Given the description of an element on the screen output the (x, y) to click on. 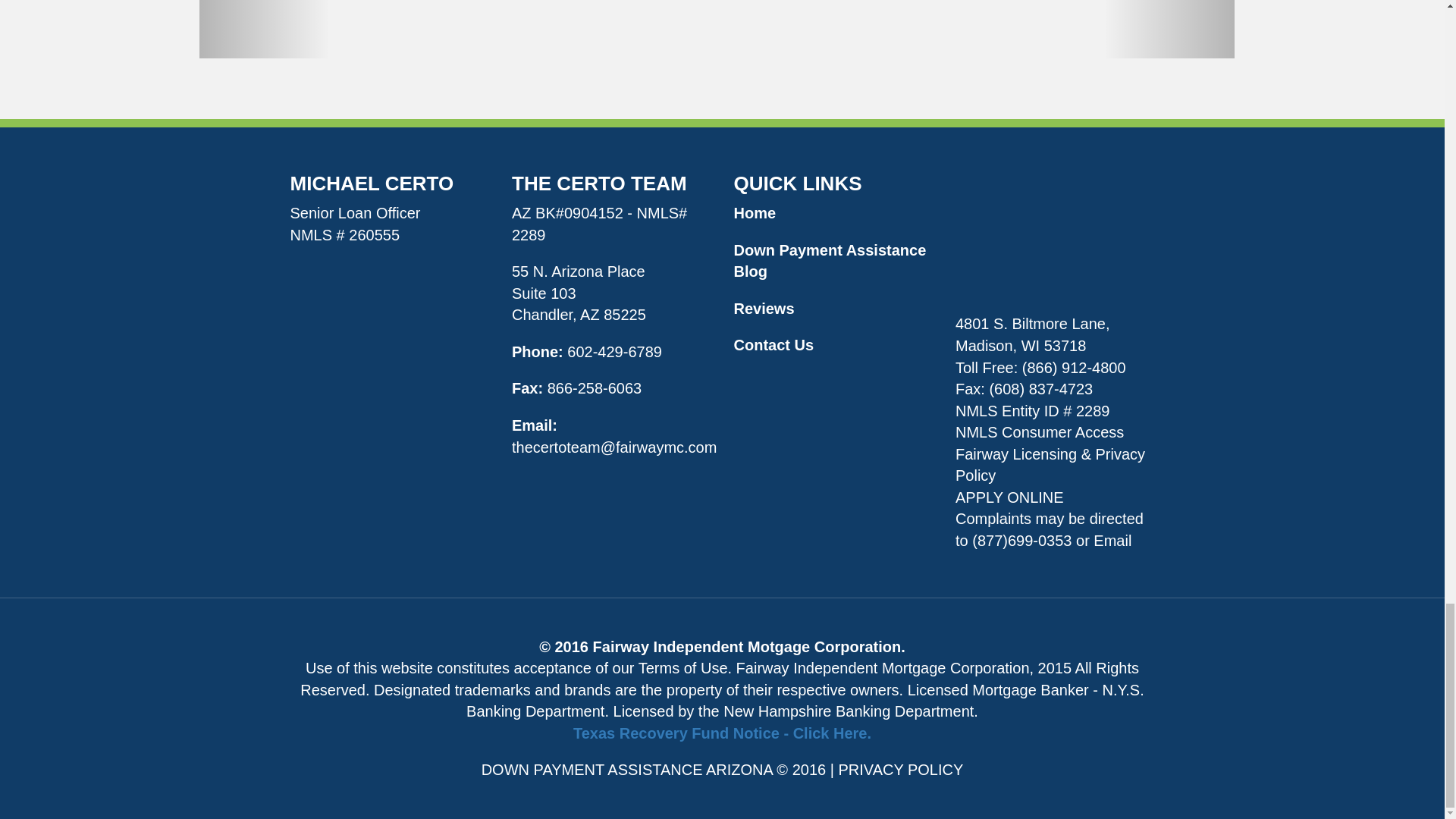
Contact Us (773, 344)
Reviews (763, 308)
Down Payment Assistance Blog (829, 260)
Home Plus Program (506, 29)
Texas Recovery Fund Notice - Click Here. (721, 733)
Previous (263, 29)
Open Doors (1082, 29)
Arizona HFA Preferred (650, 29)
Home (754, 212)
Home in 5 Program (362, 29)
Pathway to Purchase (794, 29)
Next (1168, 29)
